Given the description of an element on the screen output the (x, y) to click on. 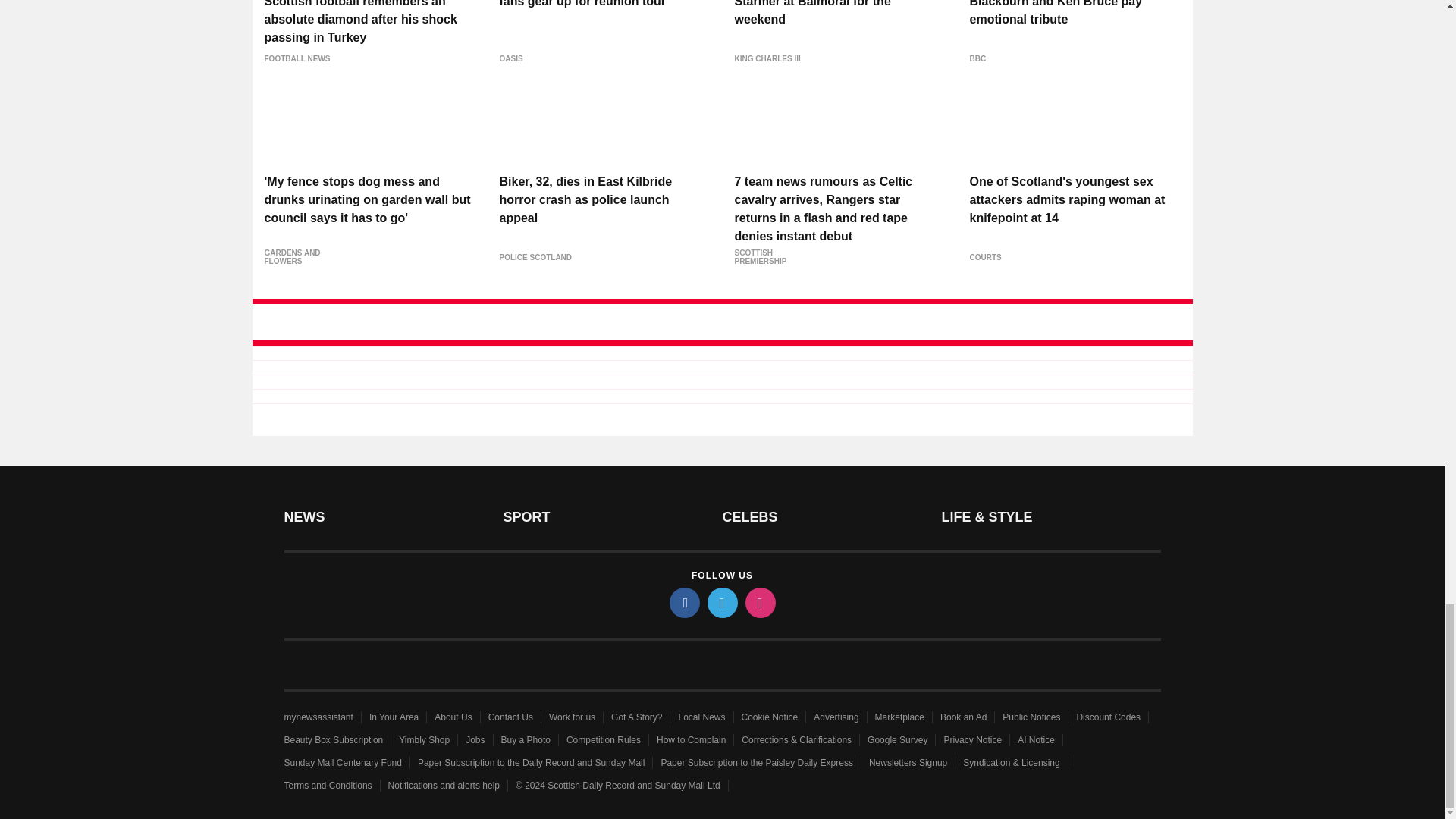
facebook (683, 603)
twitter (721, 603)
instagram (759, 603)
